Given the description of an element on the screen output the (x, y) to click on. 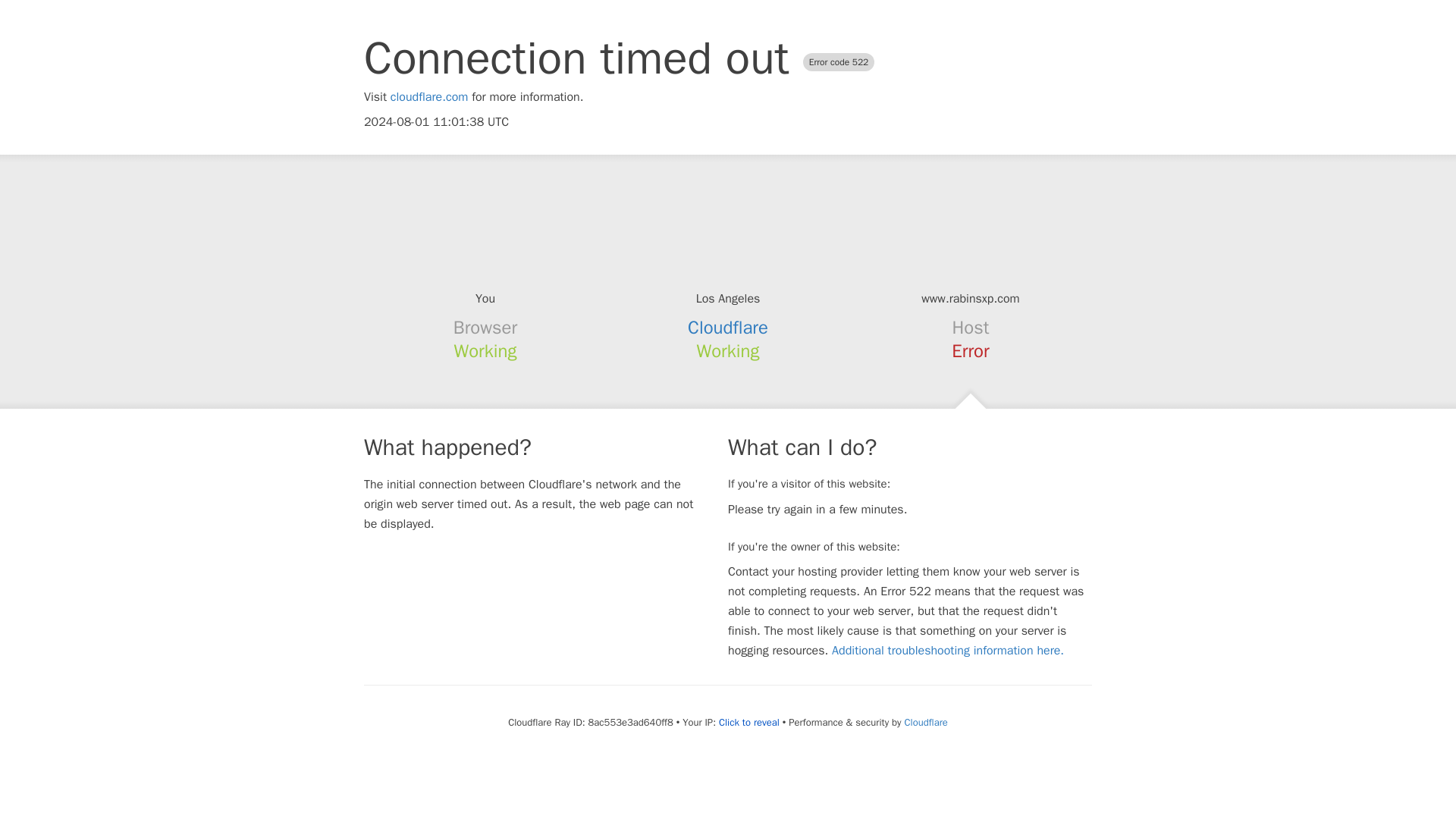
Additional troubleshooting information here. (947, 650)
cloudflare.com (429, 96)
Cloudflare (925, 721)
Cloudflare (727, 327)
Click to reveal (748, 722)
